Given the description of an element on the screen output the (x, y) to click on. 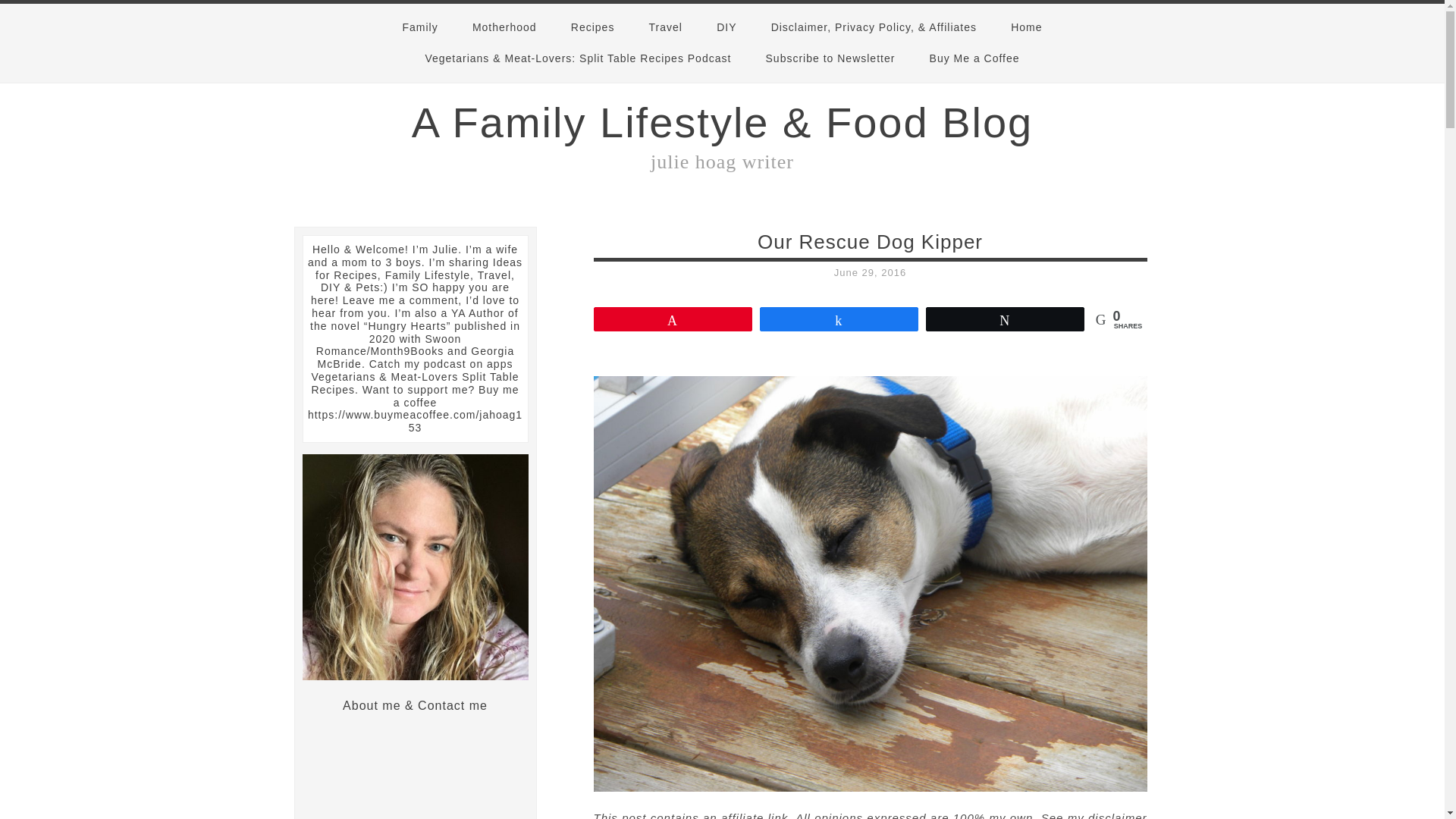
Travel (665, 27)
Subscribe to Newsletter (831, 58)
Recipes (593, 27)
Motherhood (504, 27)
DIY (726, 27)
Home (1026, 27)
Family (419, 27)
Buy Me a Coffee (974, 58)
